Given the description of an element on the screen output the (x, y) to click on. 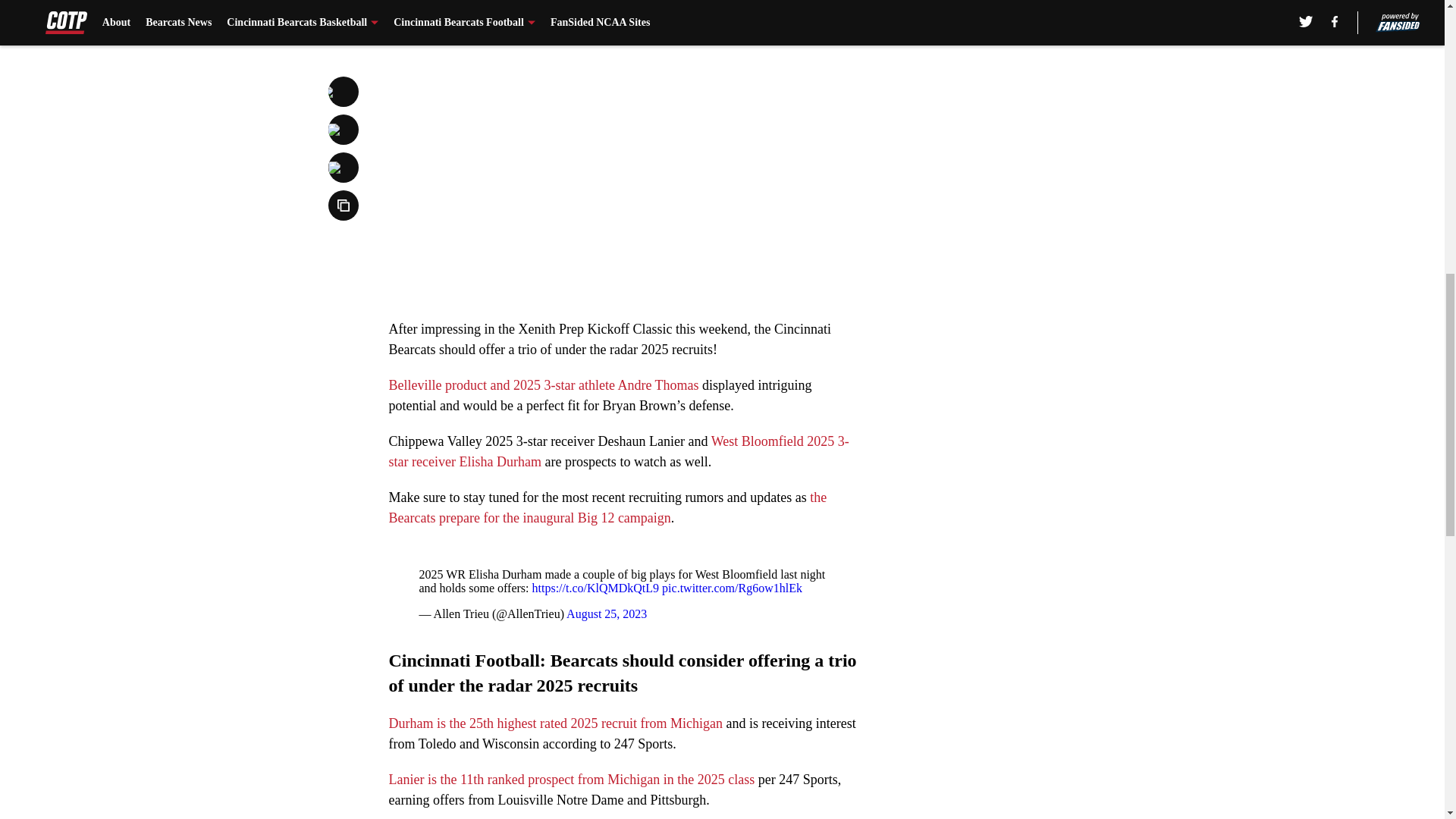
Durham is the 25th highest rated 2025 recruit from Michigan (555, 723)
Belleville product and 2025 3-star athlete Andre Thomas (543, 385)
the Bearcats prepare for the inaugural Big 12 campaign (607, 507)
August 25, 2023 (606, 613)
West Bloomfield 2025 3-star receiver Elisha Durham (618, 451)
